Given the description of an element on the screen output the (x, y) to click on. 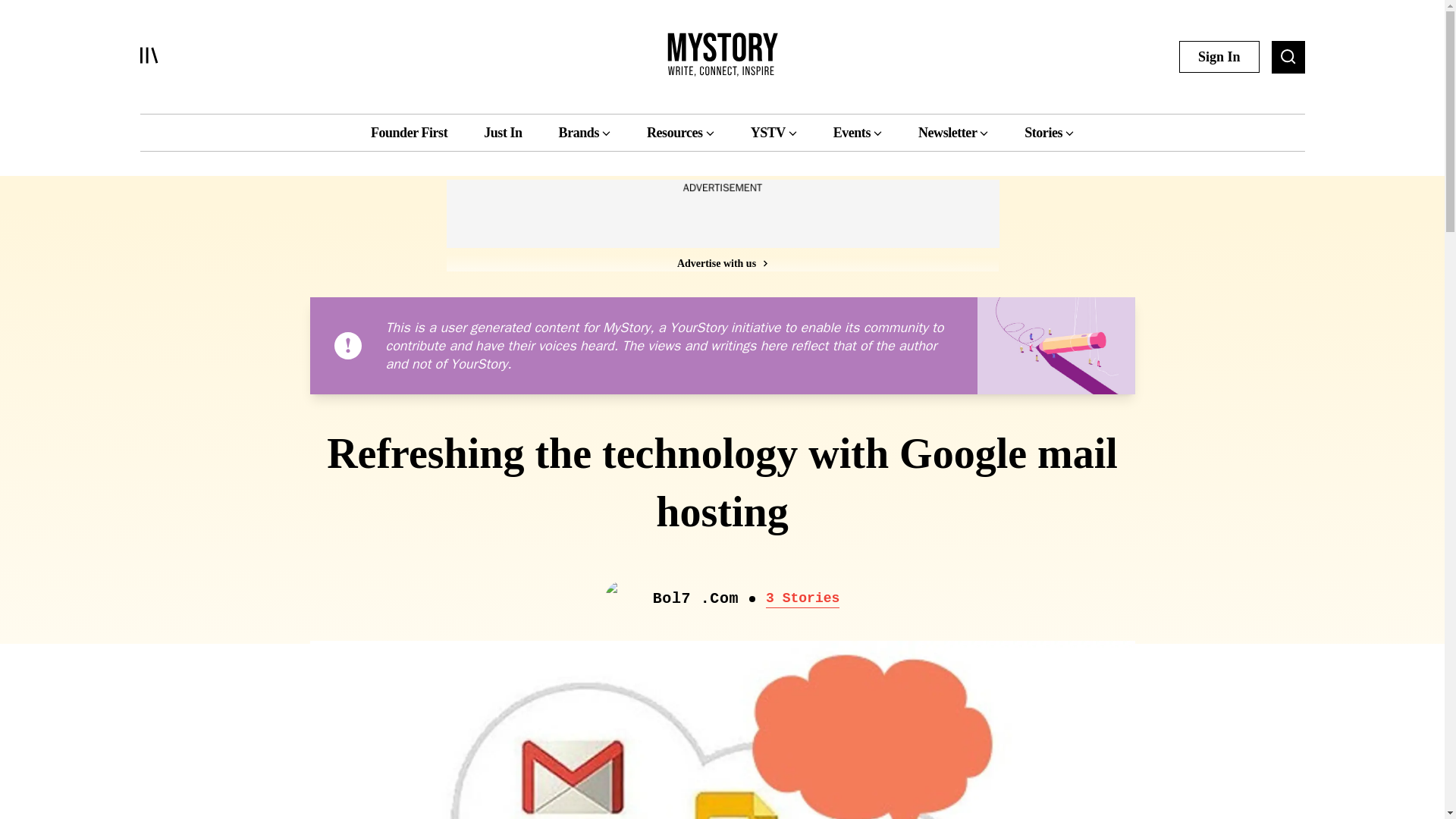
3 Stories (802, 598)
Bol7 .Com (695, 598)
Founder First (408, 132)
Just In (502, 132)
Advertise with us (721, 263)
